Given the description of an element on the screen output the (x, y) to click on. 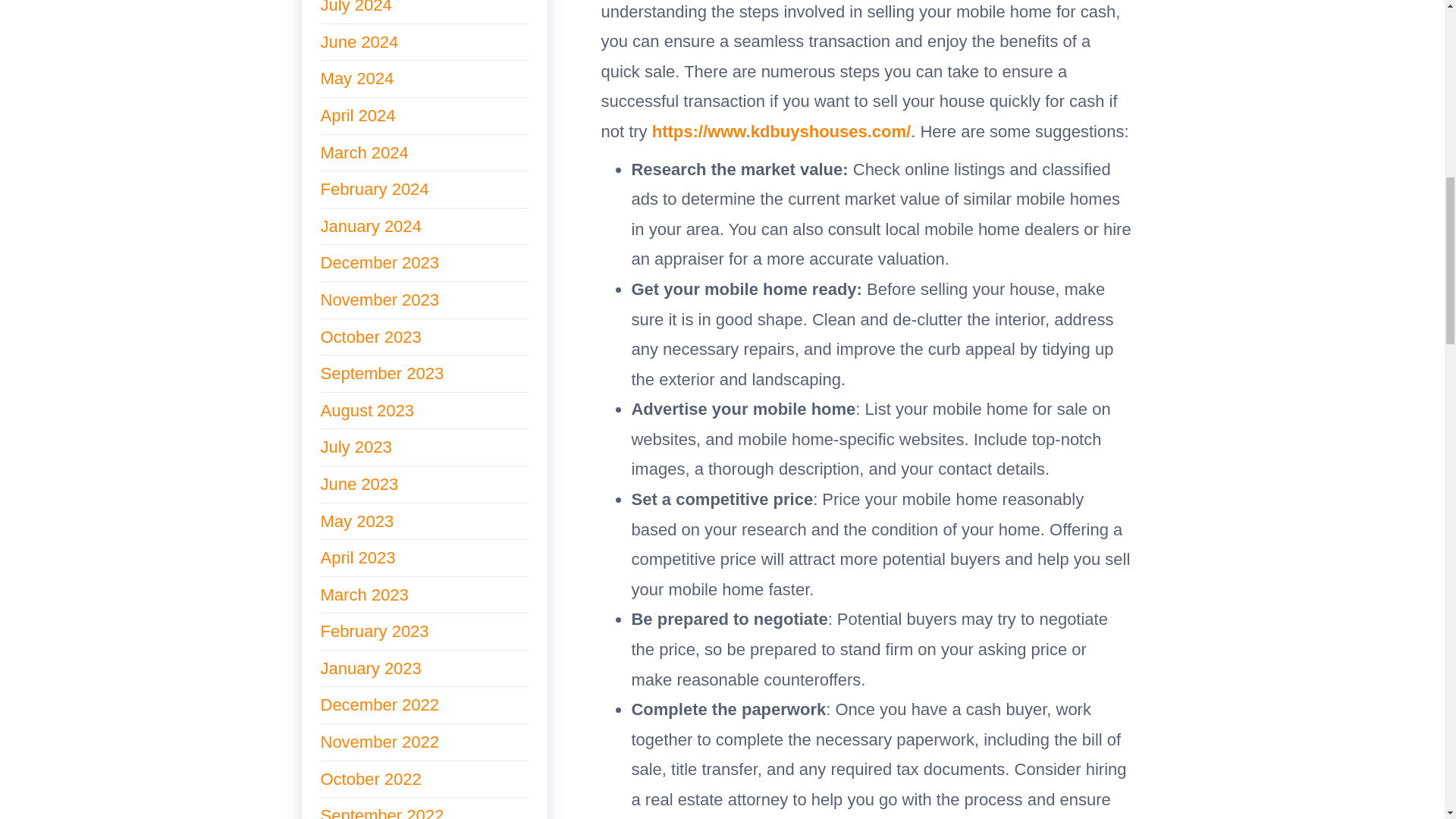
December 2022 (379, 704)
October 2023 (370, 336)
November 2022 (379, 741)
February 2024 (374, 189)
March 2023 (363, 594)
June 2023 (358, 484)
January 2023 (370, 668)
January 2024 (370, 226)
September 2023 (382, 373)
September 2022 (382, 812)
March 2024 (363, 152)
April 2023 (357, 557)
May 2024 (356, 77)
November 2023 (379, 299)
August 2023 (366, 410)
